Given the description of an element on the screen output the (x, y) to click on. 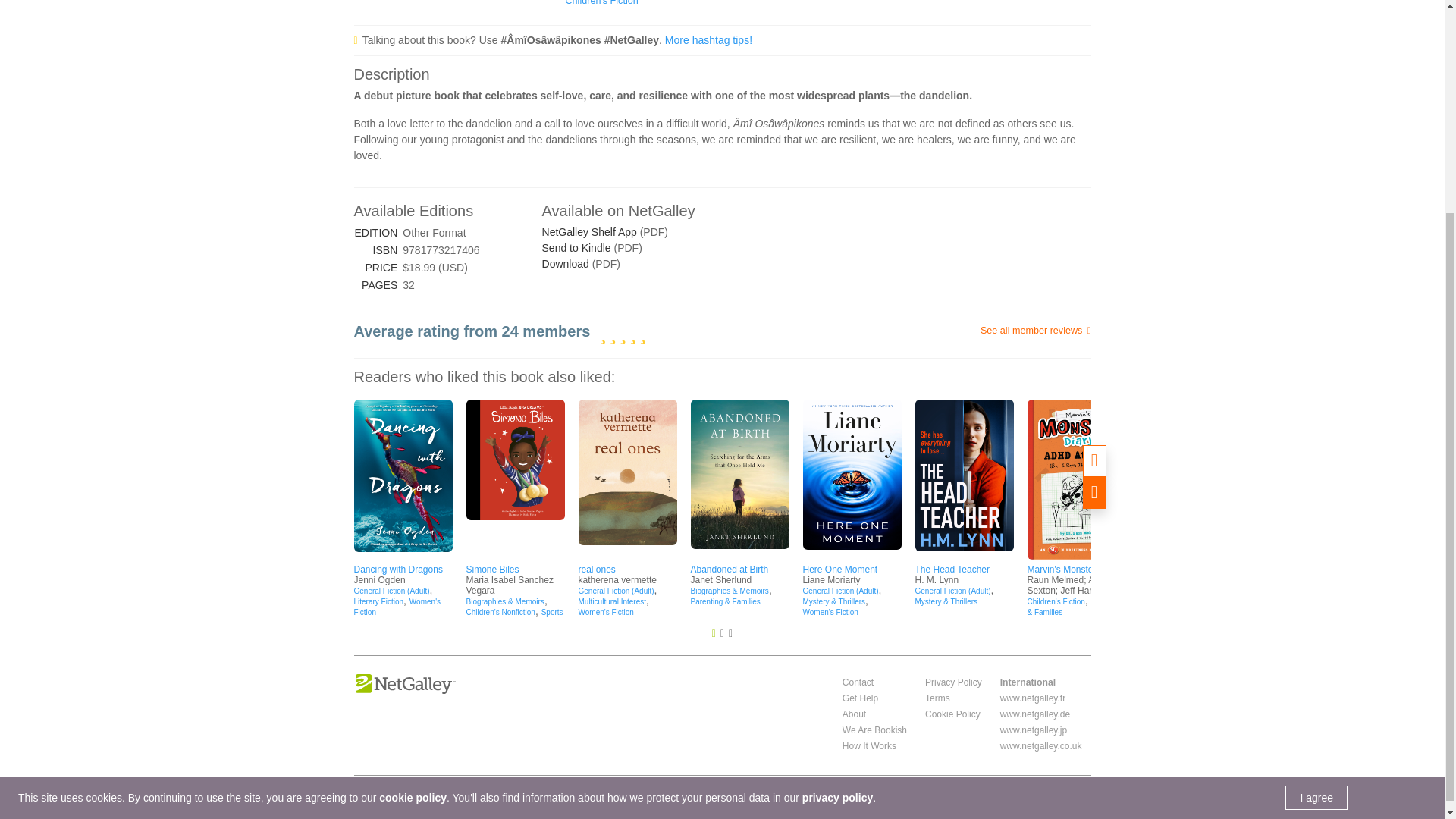
Children's Fiction (602, 2)
More hashtag tips! (708, 39)
See all member reviews (967, 330)
